Given the description of an element on the screen output the (x, y) to click on. 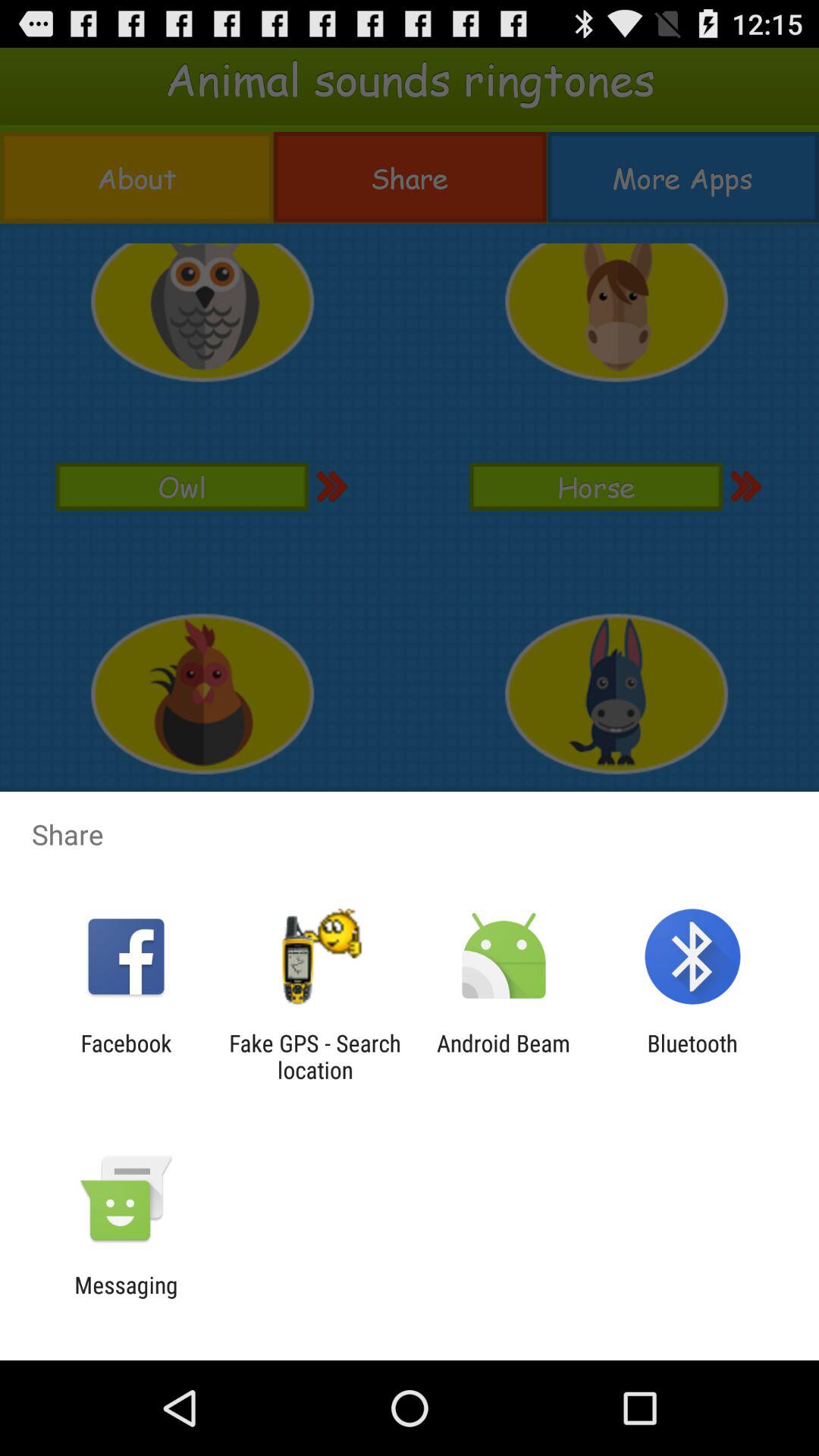
swipe until the bluetooth icon (692, 1056)
